Given the description of an element on the screen output the (x, y) to click on. 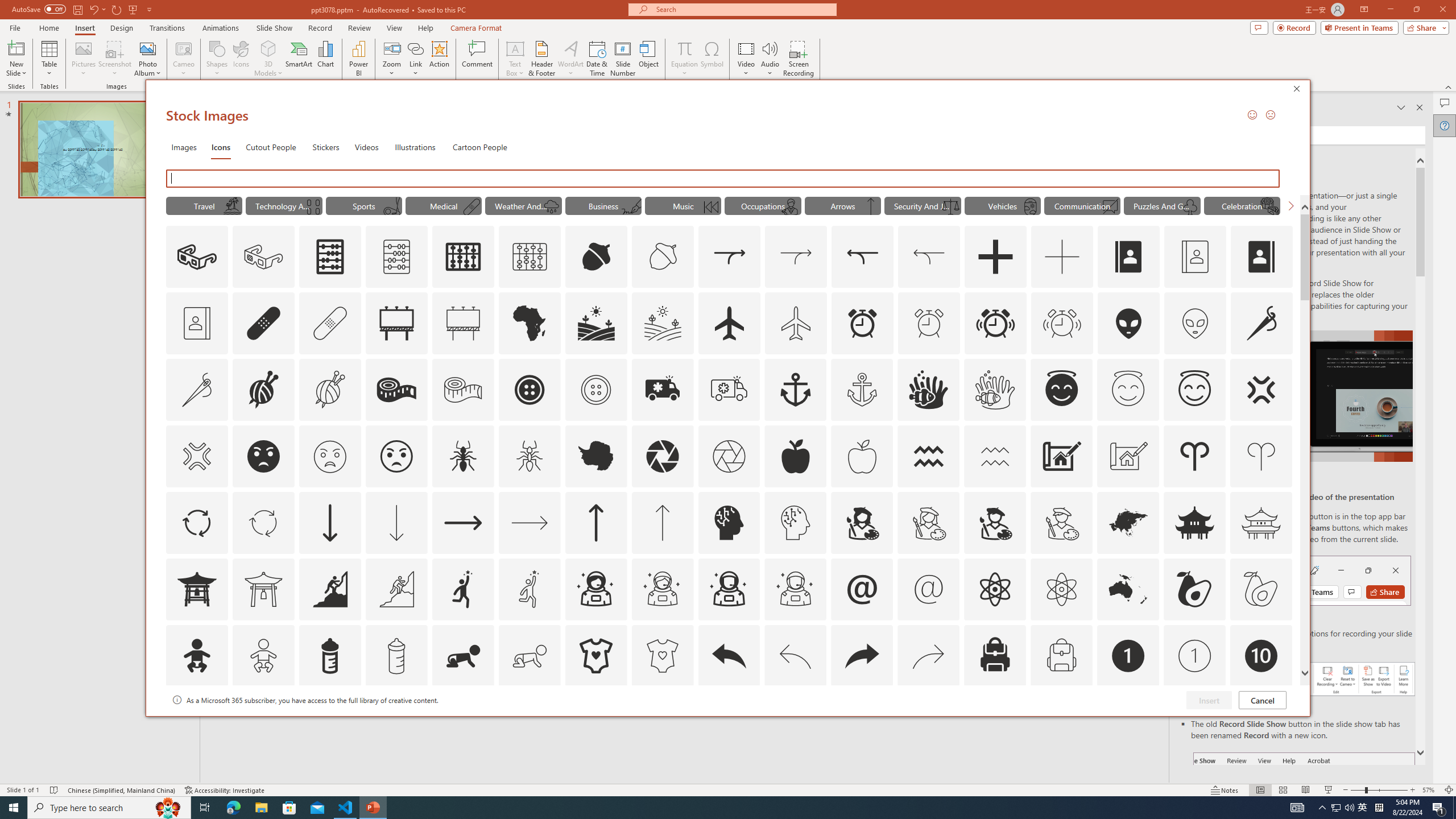
Symbol... (711, 58)
AutomationID: Icons_Abacus (330, 256)
AutomationID: Icons_AlterationsTailoring3_M (595, 389)
AutomationID: Icons_AlienFace (1128, 323)
"Medical" Icons. (443, 205)
AutomationID: Icons_AddressBook_RTL (1261, 256)
AutomationID: Icons_Signature_LTR_M (631, 206)
AutomationID: Icons_Aquarius_M (995, 455)
AutomationID: Icons_Acquisition_RTL_M (928, 256)
